Given the description of an element on the screen output the (x, y) to click on. 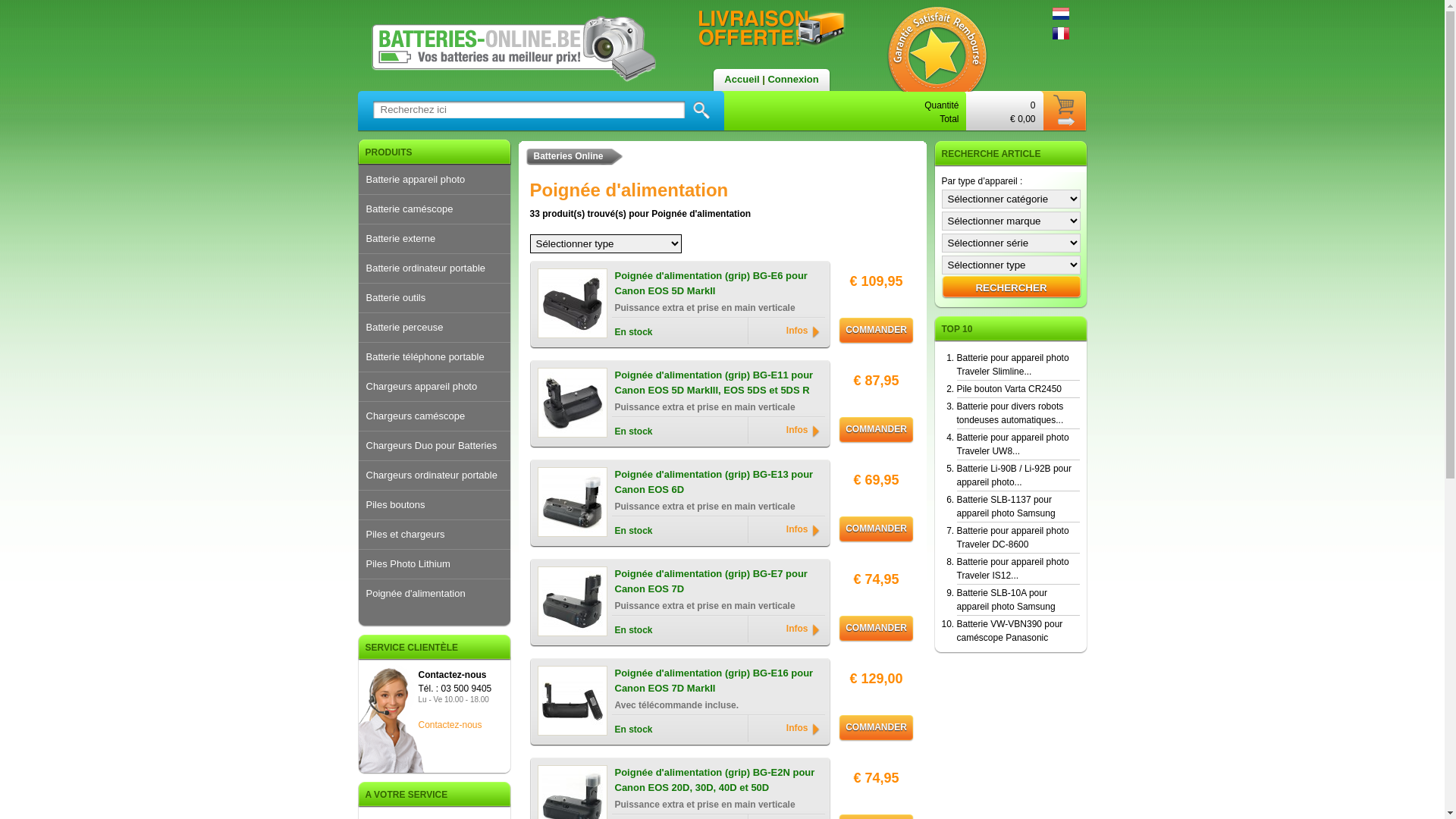
Batterie pour appareil photo Traveler DC-8600 Element type: text (1013, 537)
Batterie SLB-1137 pour appareil photo Samsung Element type: text (1006, 506)
Piles Photo Lithium Element type: text (433, 563)
Batterie pour appareil photo Traveler Slimline... Element type: text (1013, 364)
COMMANDER Element type: text (875, 529)
COMMANDER Element type: text (875, 430)
Connexion Element type: text (792, 78)
Infos Element type: text (801, 430)
Chargeurs Duo pour Batteries Element type: text (433, 445)
Batterie pour appareil photo Traveler IS12... Element type: text (1013, 568)
Piles boutons Element type: text (433, 504)
Batterie pour appareil photo Traveler UW8... Element type: text (1013, 444)
Chargeurs appareil photo Element type: text (433, 386)
COMMANDER Element type: text (875, 728)
Infos Element type: text (801, 529)
Batterie ordinateur portable Element type: text (433, 268)
Infos Element type: text (801, 629)
COMMANDER Element type: text (875, 330)
Batterie externe Element type: text (433, 238)
Batterie appareil photo Element type: text (433, 179)
Batterie SLB-10A pour appareil photo Samsung Element type: text (1006, 599)
Accueil Element type: text (741, 78)
Infos Element type: text (801, 728)
Piles et chargeurs Element type: text (433, 534)
Chargeurs ordinateur portable Element type: text (433, 475)
Batterie outils Element type: text (433, 297)
Pile bouton Varta CR2450 Element type: text (1009, 388)
Batterie pour divers robots tondeuses automatiques... Element type: text (1010, 413)
Rechercher Element type: text (1011, 287)
Batterie perceuse Element type: text (433, 327)
COMMANDER Element type: text (875, 628)
Batterie Li-90B / Li-92B pour appareil photo... Element type: text (1014, 475)
Batteries Online Element type: text (568, 155)
Contactez-nous Element type: text (450, 724)
Infos Element type: text (801, 330)
